Given the description of an element on the screen output the (x, y) to click on. 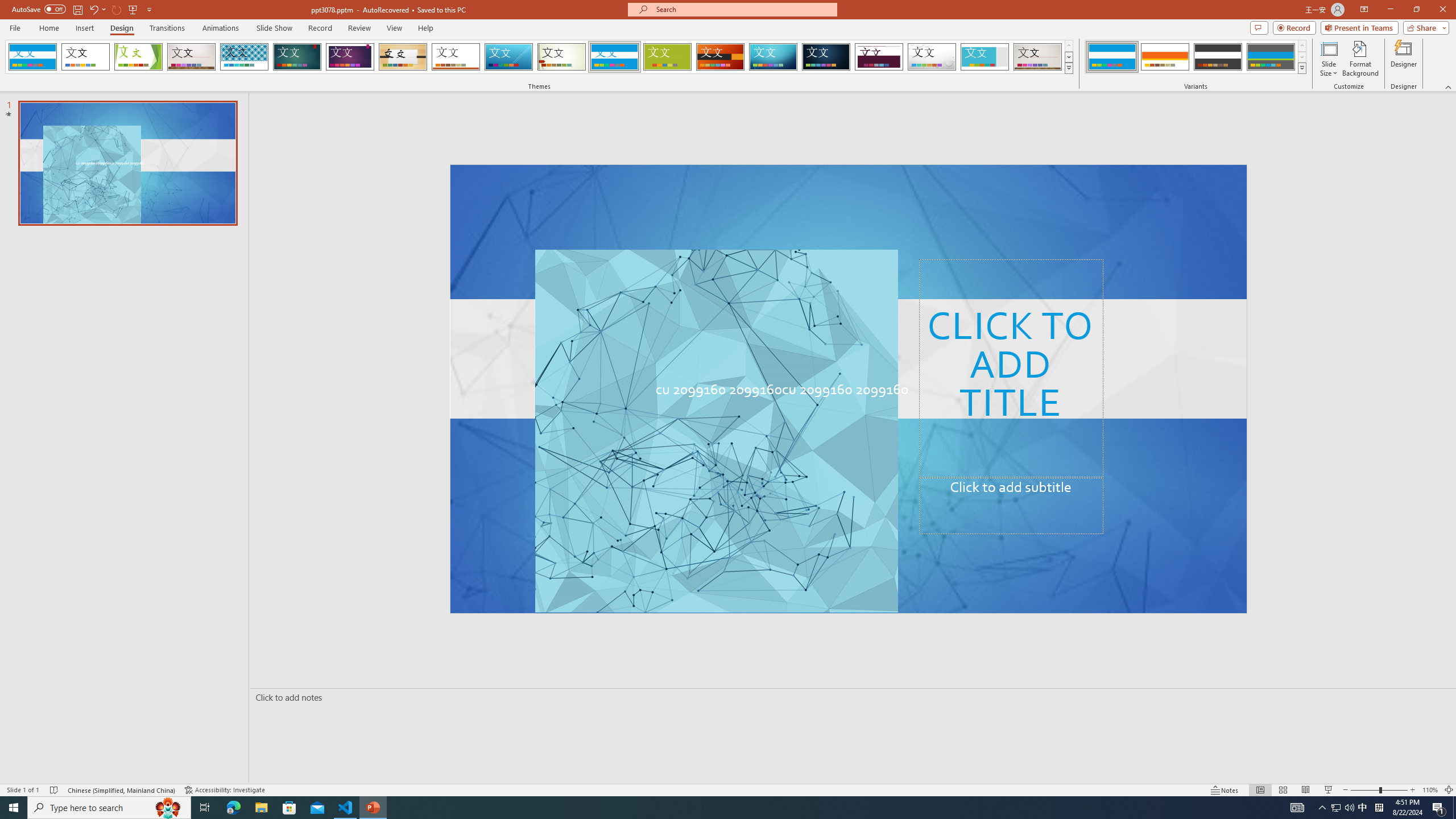
Themes (1068, 67)
Circuit (772, 56)
Damask (826, 56)
Integral (244, 56)
Droplet (931, 56)
